Given the description of an element on the screen output the (x, y) to click on. 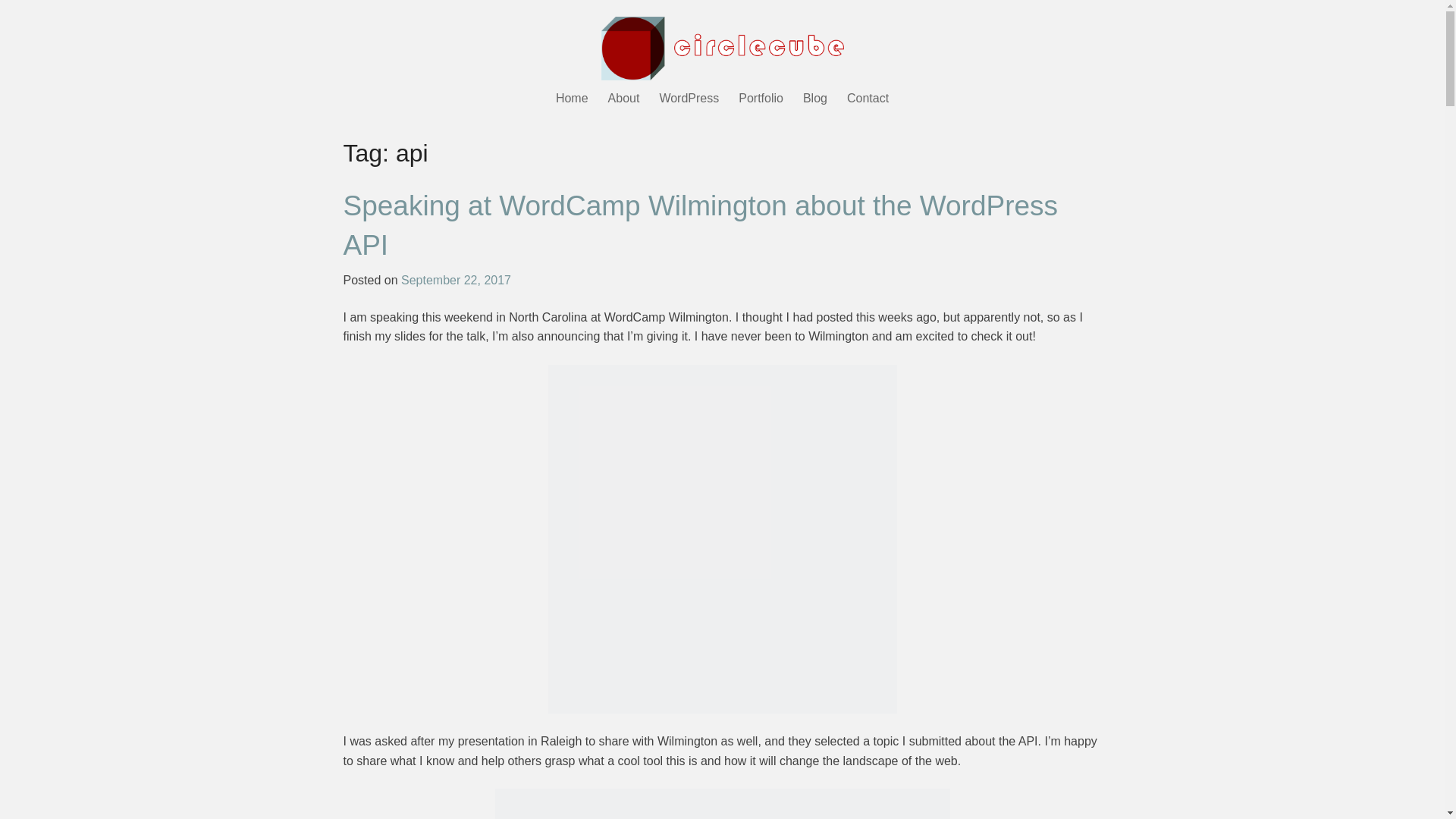
September 22, 2017 (456, 279)
About (623, 100)
circlecube (721, 43)
Portfolio (761, 100)
Speaking at WordCamp Wilmington about the WordPress API (700, 225)
Home (572, 100)
Contact (867, 100)
Blog (815, 100)
WordPress (689, 100)
